Given the description of an element on the screen output the (x, y) to click on. 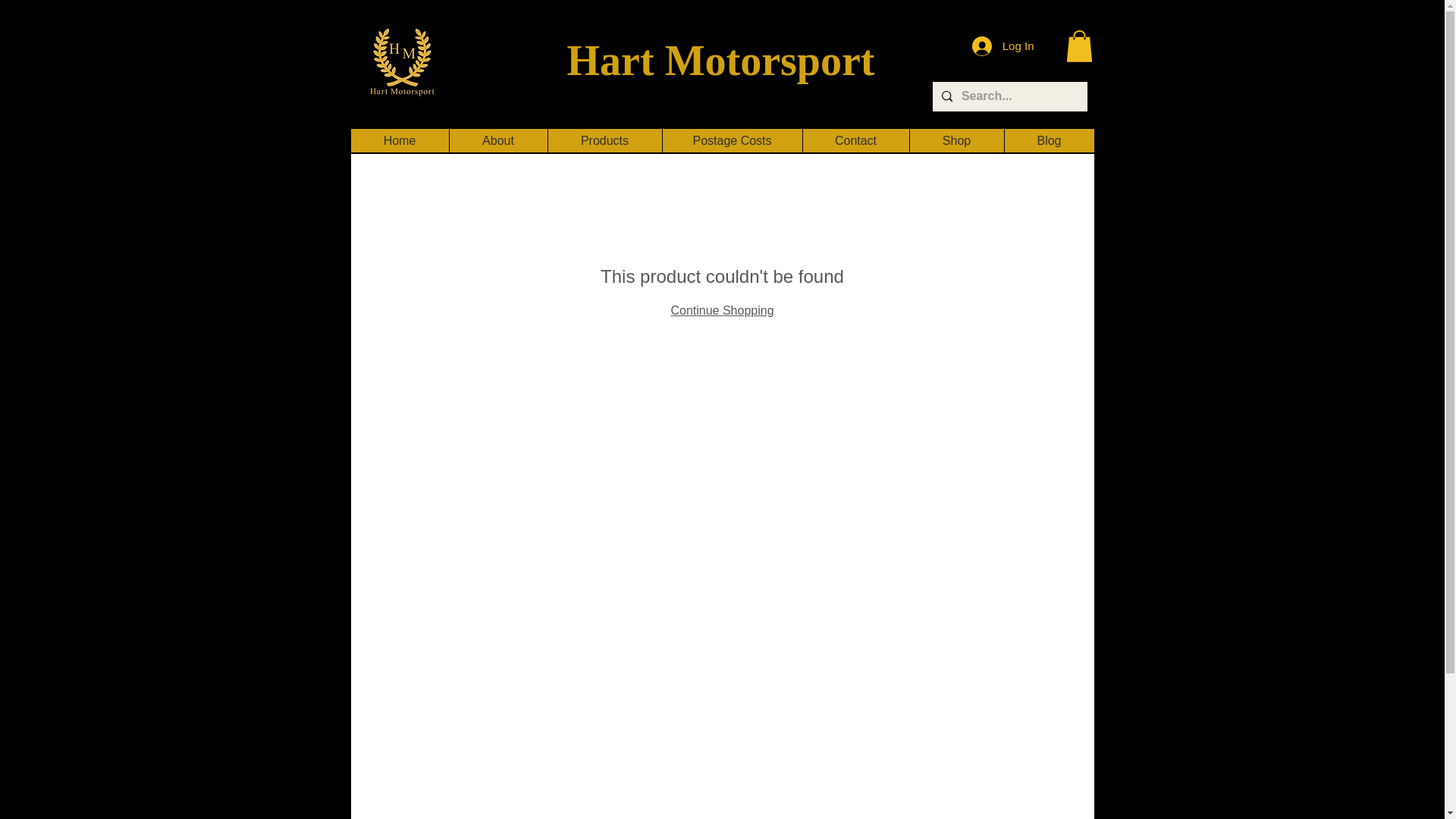
Contact (855, 140)
Home (399, 140)
Shop (955, 140)
About (497, 140)
Products (604, 140)
Blog (1049, 140)
Log In (1002, 45)
Postage Costs (731, 140)
Continue Shopping (721, 309)
Hart Motorsport (721, 60)
